Given the description of an element on the screen output the (x, y) to click on. 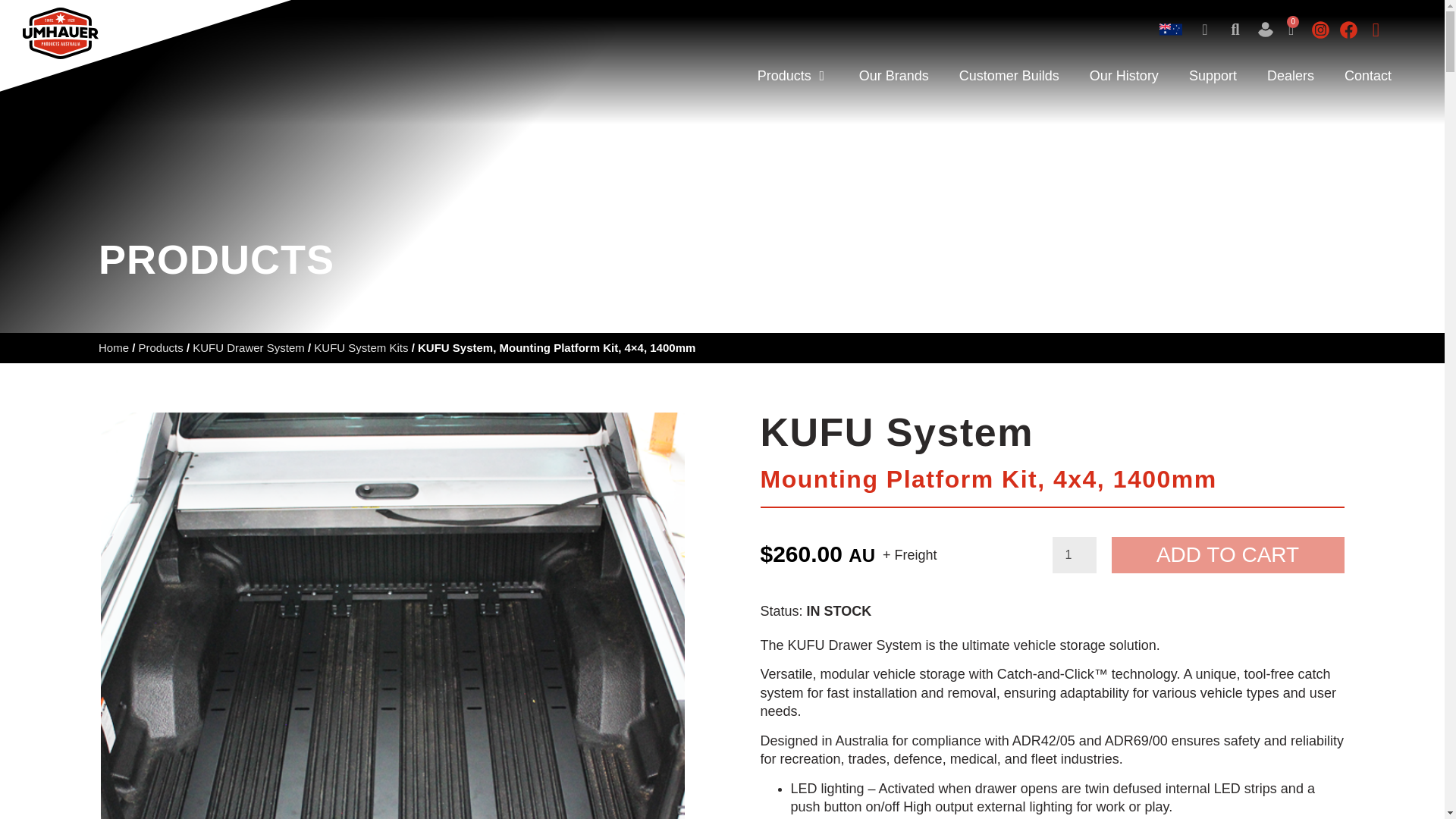
Our History (1123, 75)
1 (1074, 555)
Customer Builds (1009, 75)
Dealers (1290, 75)
Contact (1367, 75)
Support (1212, 75)
Our Brands (893, 75)
